Given the description of an element on the screen output the (x, y) to click on. 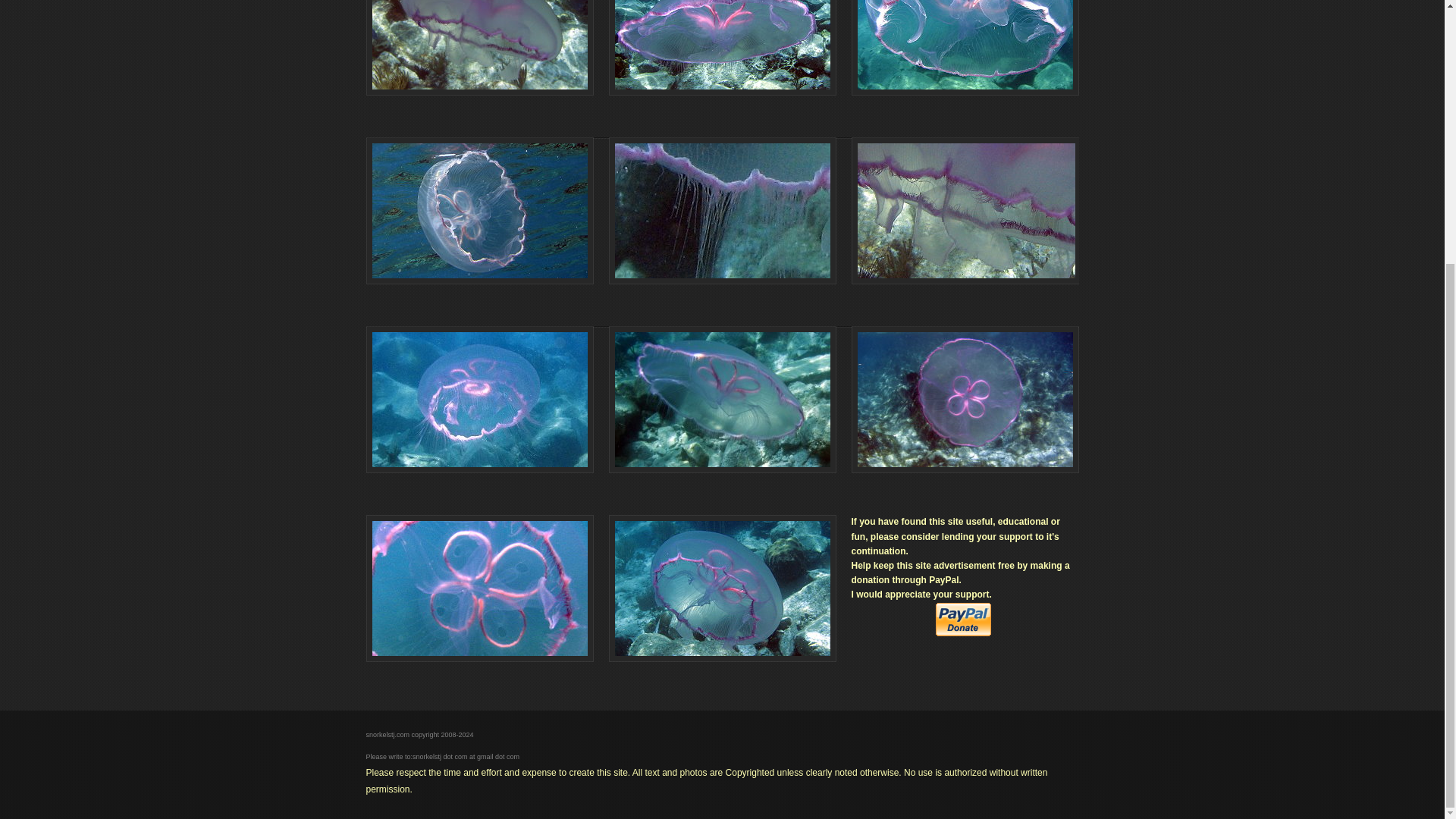
PayPal - The safer, easier way to pay online! (963, 618)
